Given the description of an element on the screen output the (x, y) to click on. 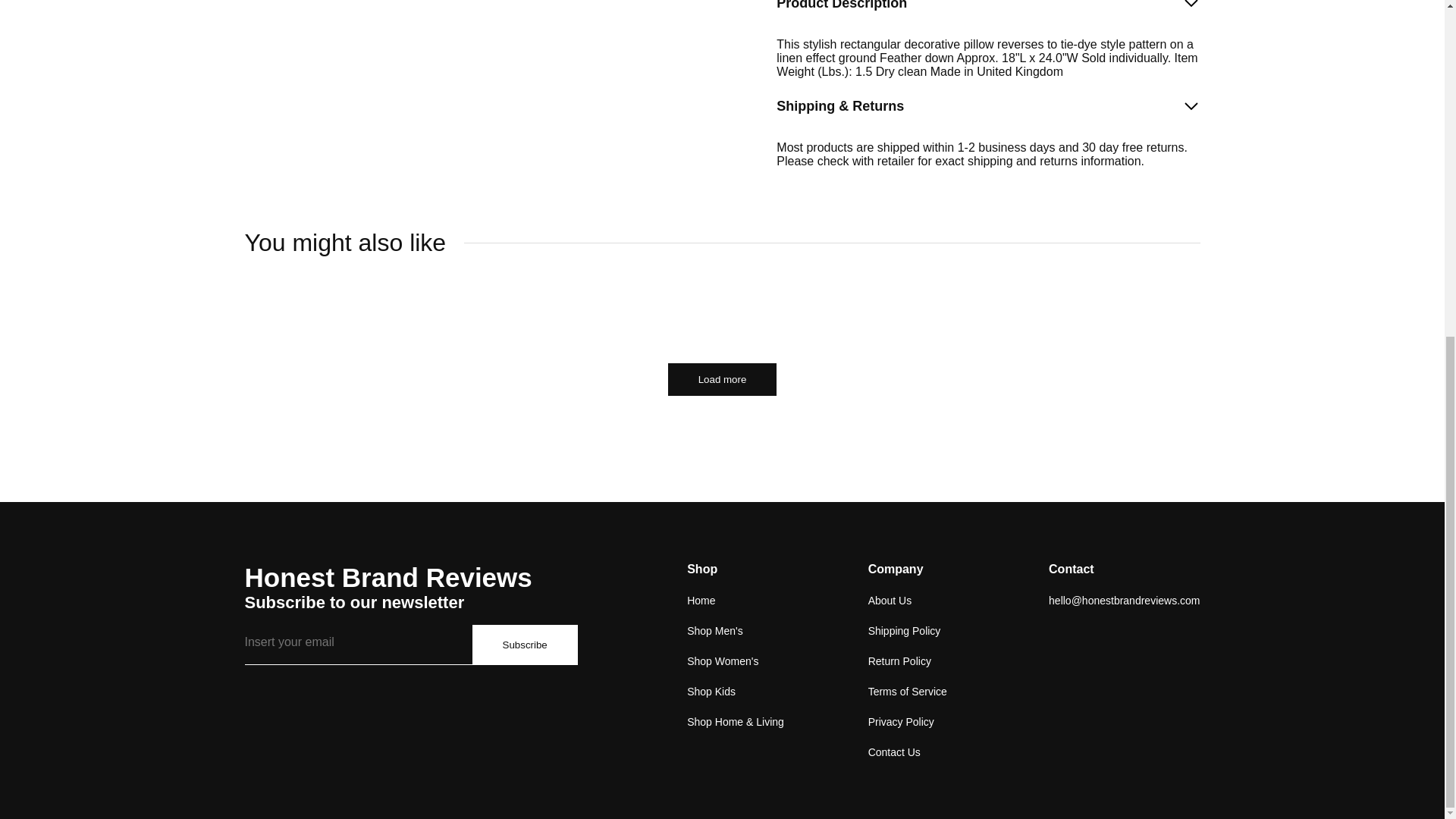
Load more (722, 379)
Subscribe (523, 644)
Shop Kids (711, 691)
Shop Women's (722, 661)
Home (700, 600)
Shop Men's (714, 630)
